Given the description of an element on the screen output the (x, y) to click on. 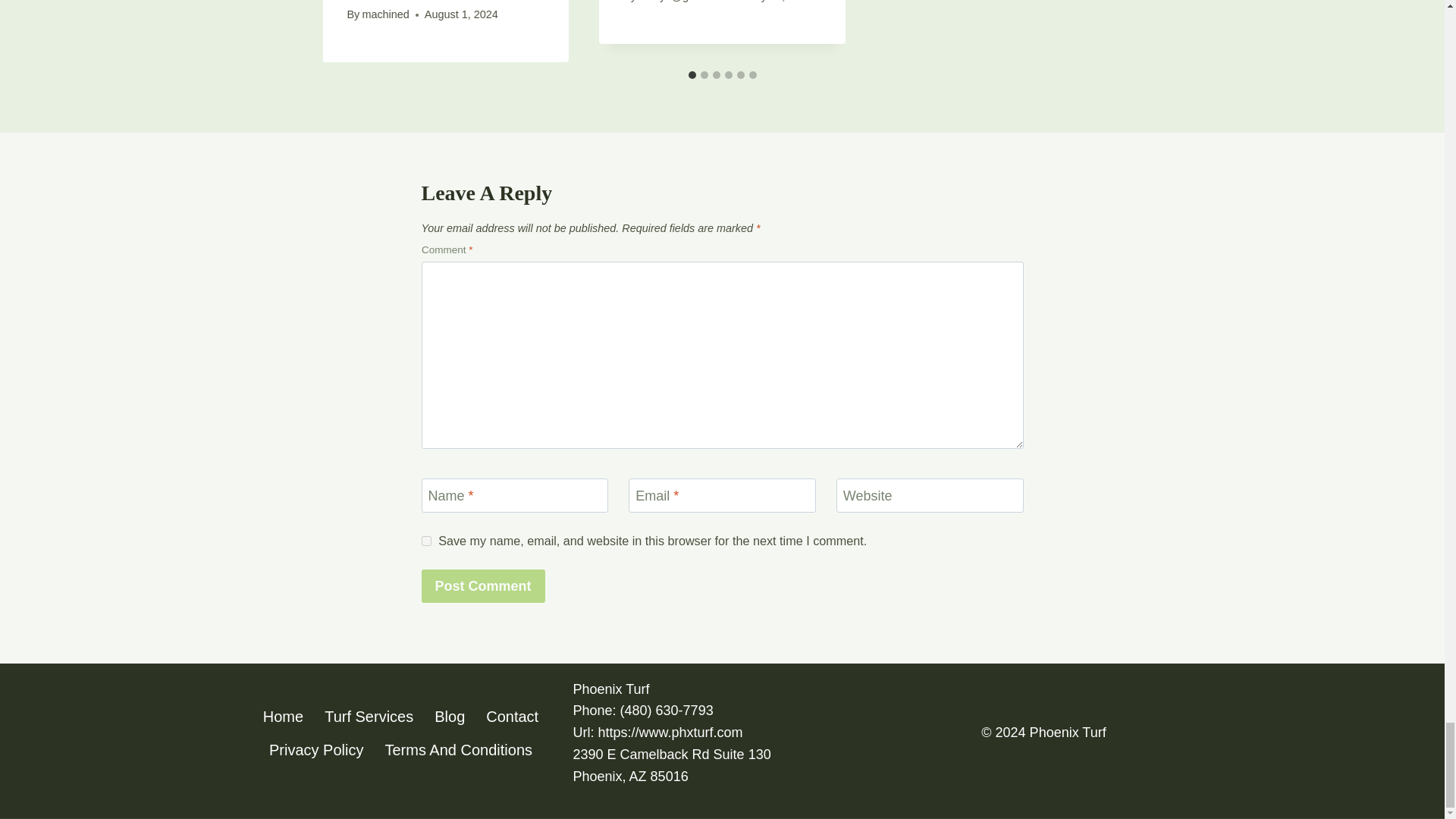
Post Comment (483, 585)
yes (426, 541)
